Given the description of an element on the screen output the (x, y) to click on. 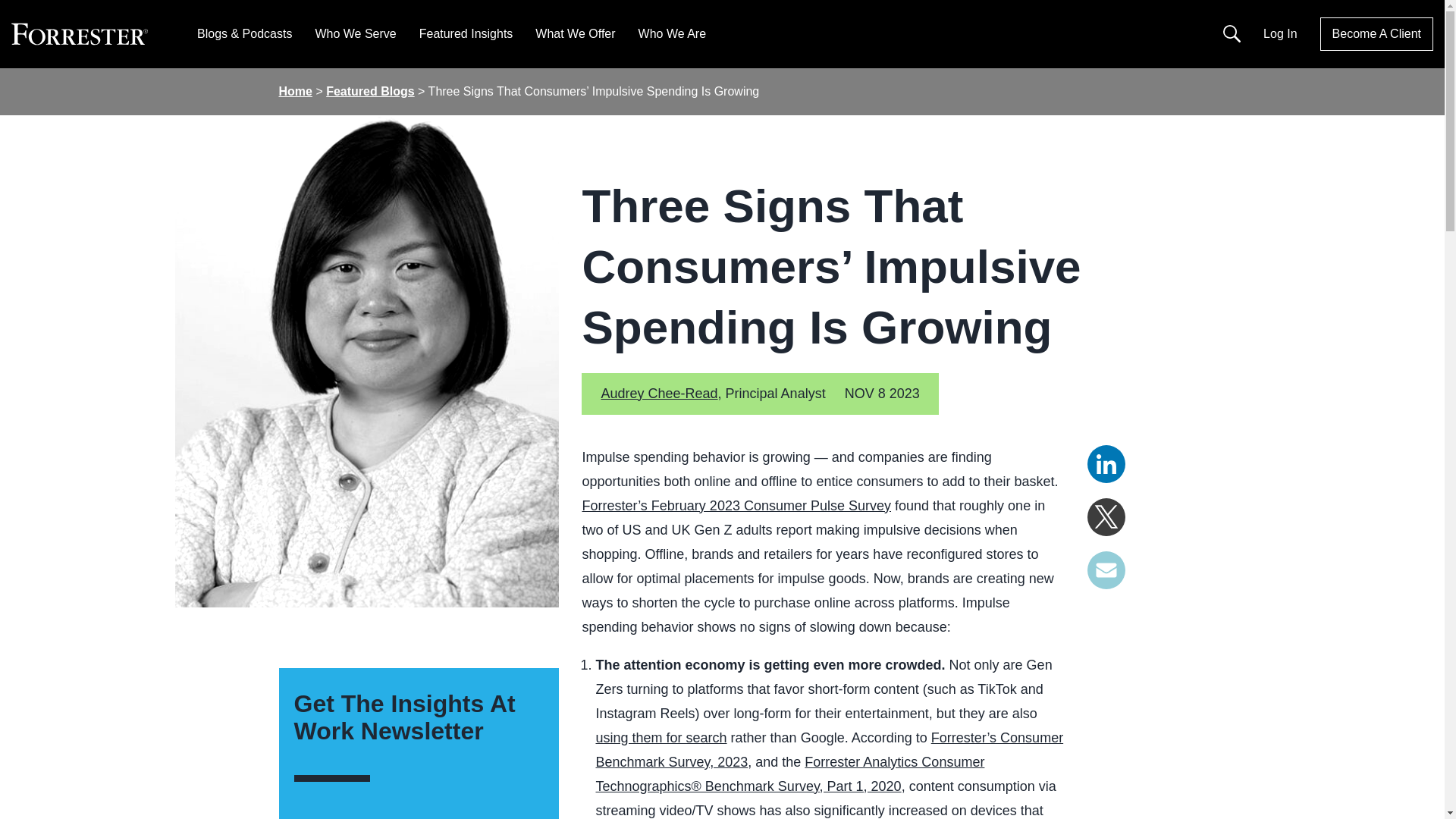
Featured Insights (466, 33)
Who We Serve (355, 33)
Posts by Audrey Chee-Read (658, 392)
What We Offer (574, 33)
